Given the description of an element on the screen output the (x, y) to click on. 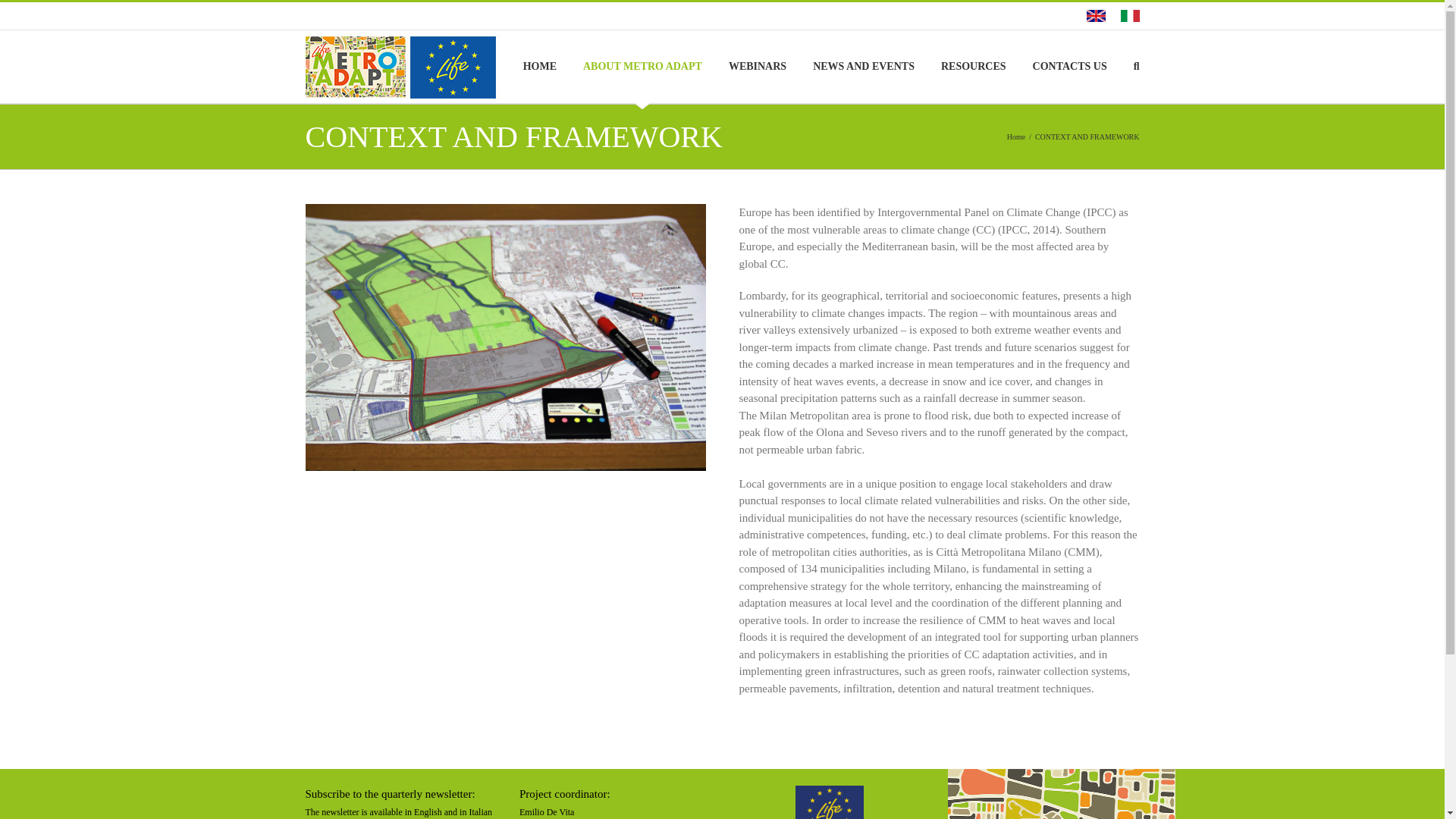
it (1129, 15)
NEWS AND EVENTS (863, 66)
RESOURCES (973, 66)
CONTACTS US (1069, 66)
ABOUT METRO ADAPT (642, 66)
12-lab (504, 336)
en (1095, 15)
it (1129, 15)
en (1095, 15)
Home (1016, 136)
